Given the description of an element on the screen output the (x, y) to click on. 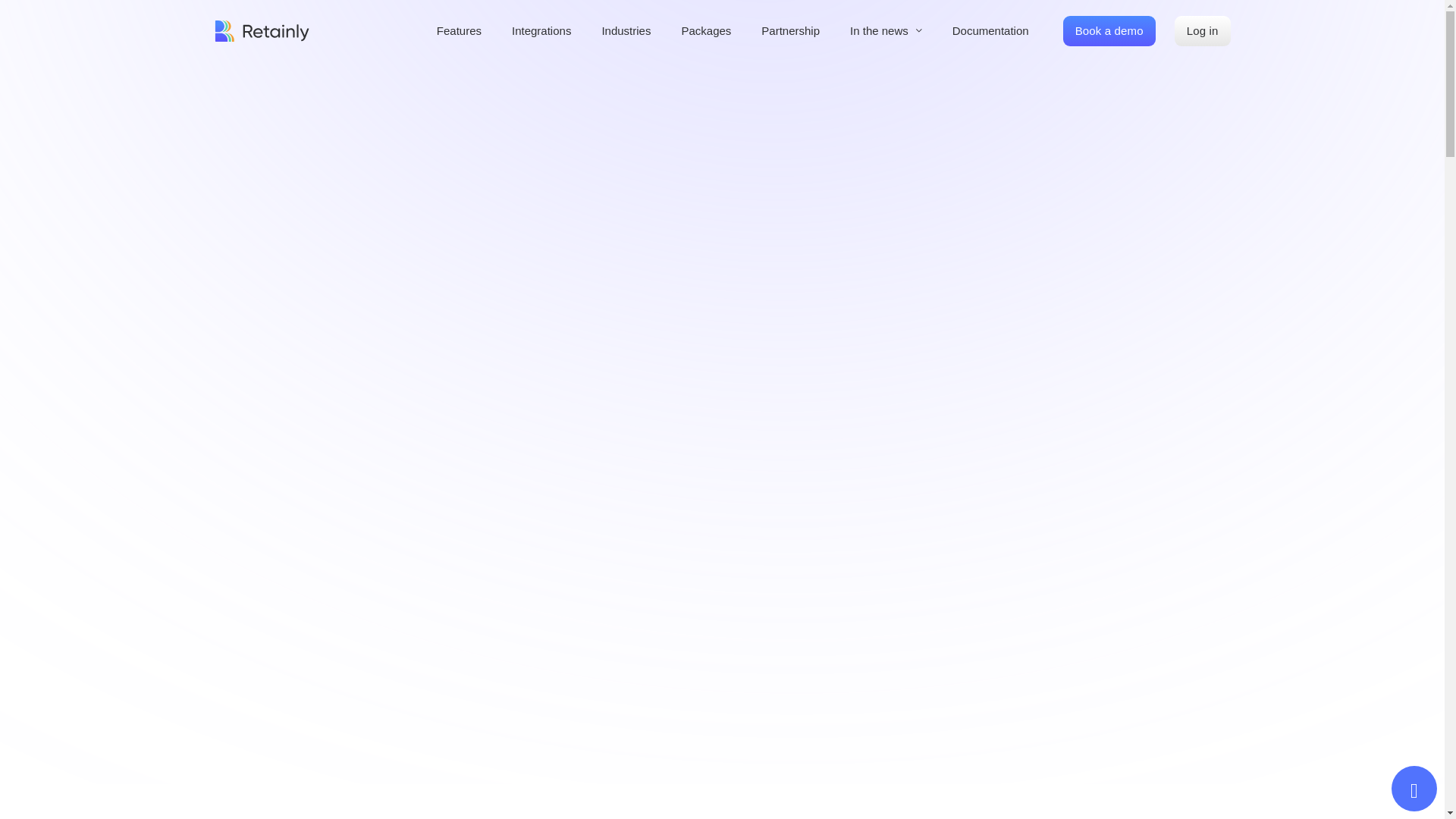
Industries (625, 30)
Documentation (990, 30)
Book a demo (1109, 30)
Features (458, 30)
Log in (1202, 30)
Partnership (790, 30)
Integrations (541, 30)
In the news (879, 30)
Packages (705, 30)
